Given the description of an element on the screen output the (x, y) to click on. 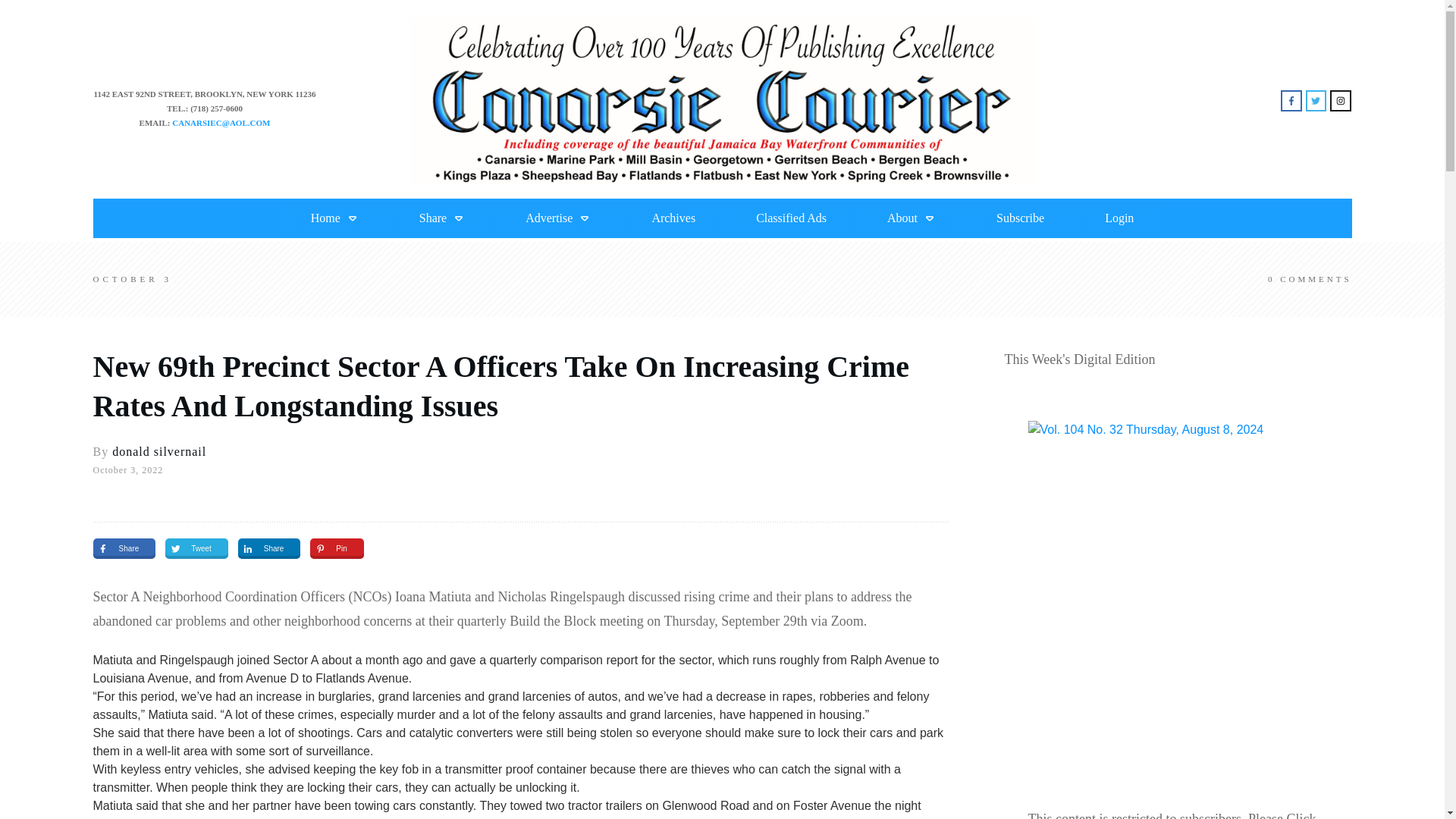
Advertise (558, 218)
Subscribe (1019, 218)
Share (117, 547)
Archives (672, 218)
Share (441, 218)
Classified Ads (791, 218)
Pin (330, 547)
Home (334, 218)
About (911, 218)
